Given the description of an element on the screen output the (x, y) to click on. 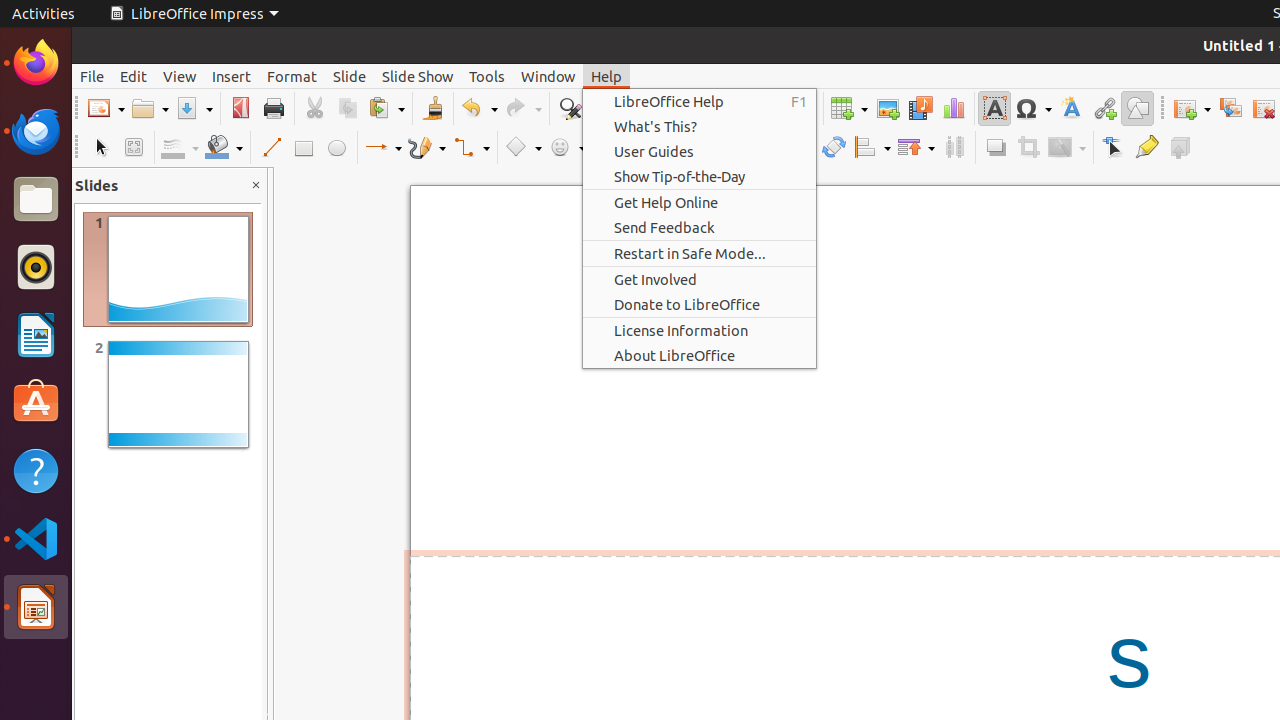
Rectangle Element type: push-button (303, 147)
LibreOffice Impress Element type: push-button (36, 607)
Files Element type: push-button (36, 199)
Line Color Element type: push-button (180, 147)
